Given the description of an element on the screen output the (x, y) to click on. 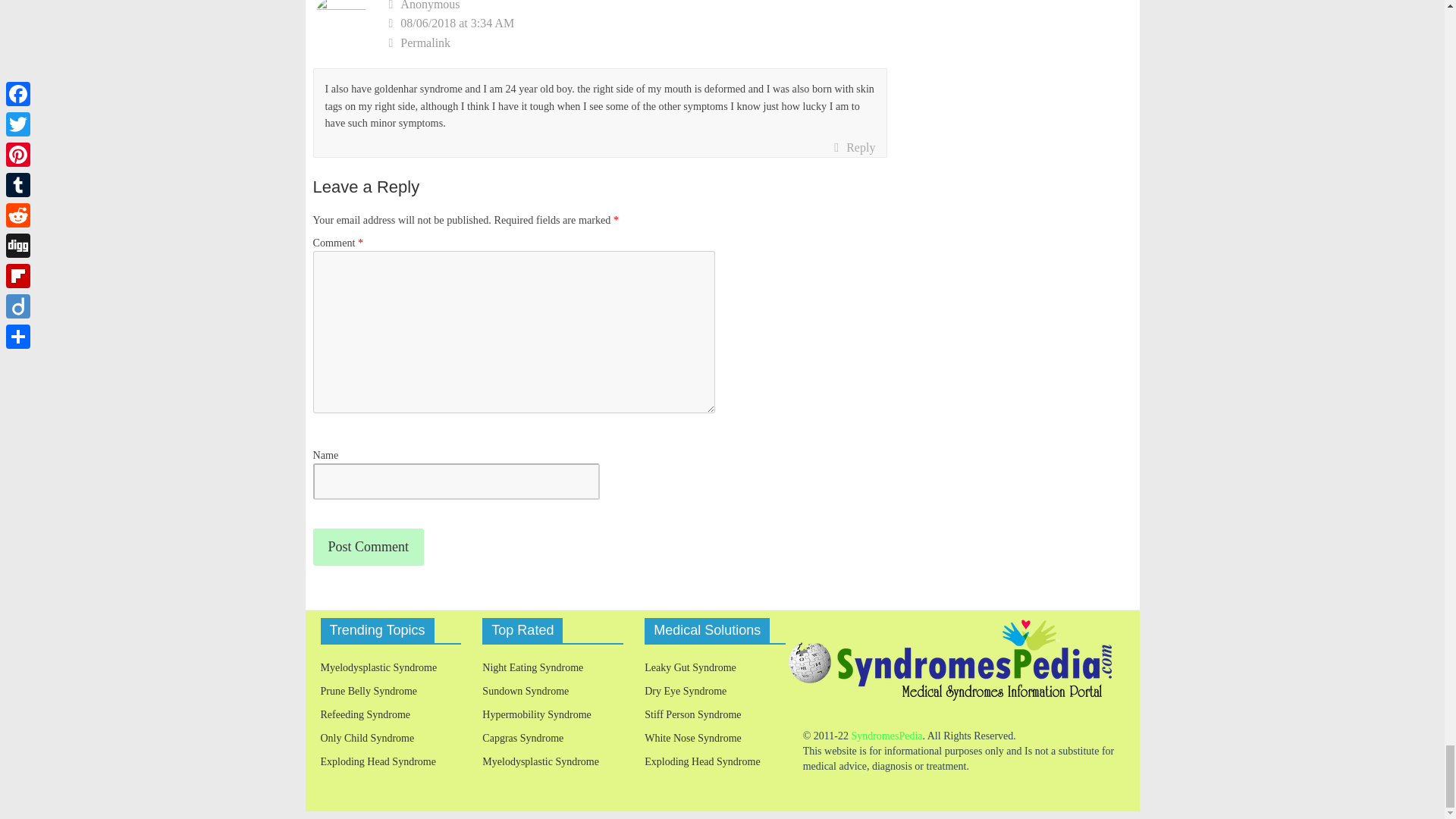
Post Comment (368, 546)
